Given the description of an element on the screen output the (x, y) to click on. 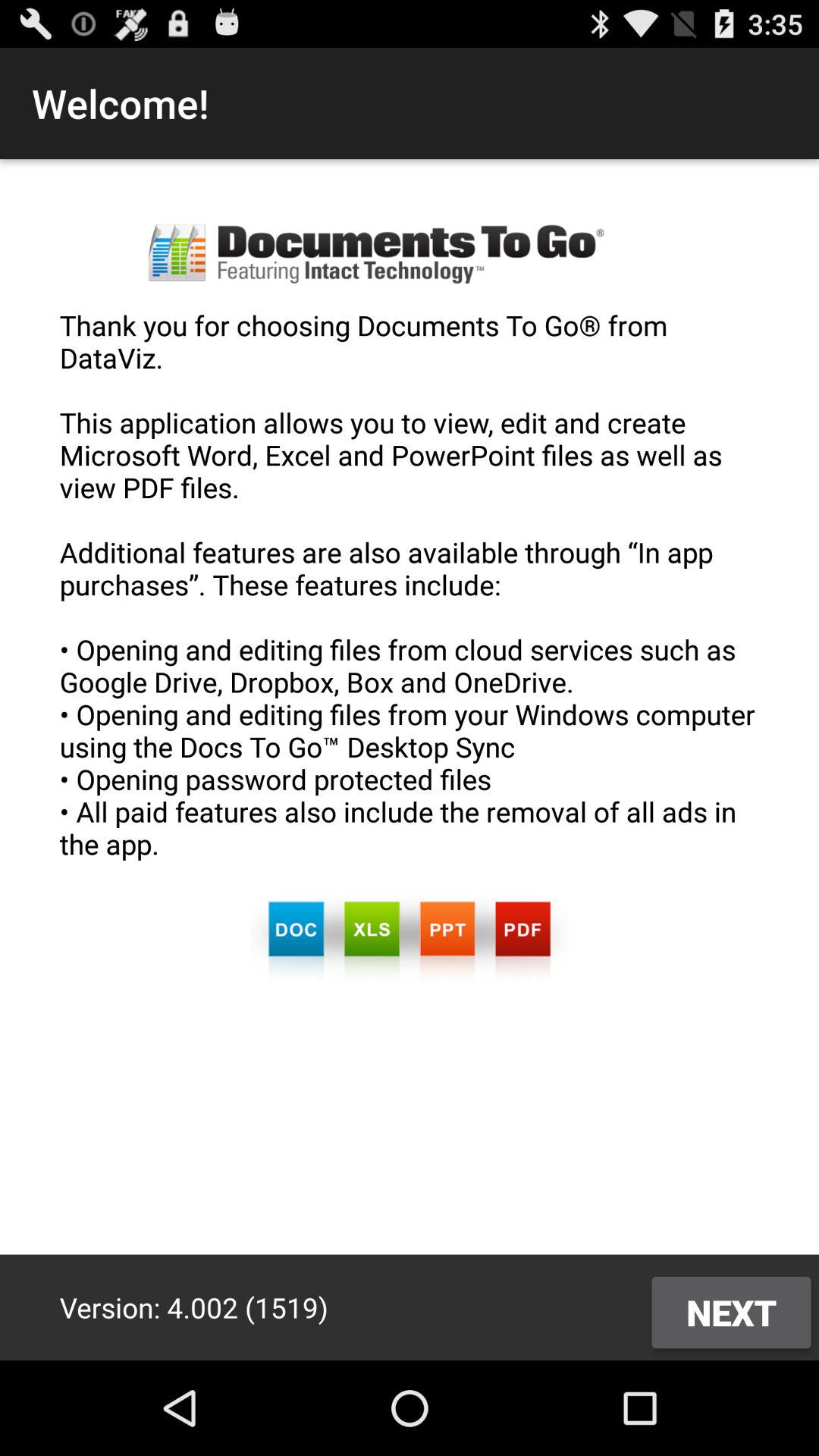
click item to the right of the version 4 002 (731, 1312)
